Given the description of an element on the screen output the (x, y) to click on. 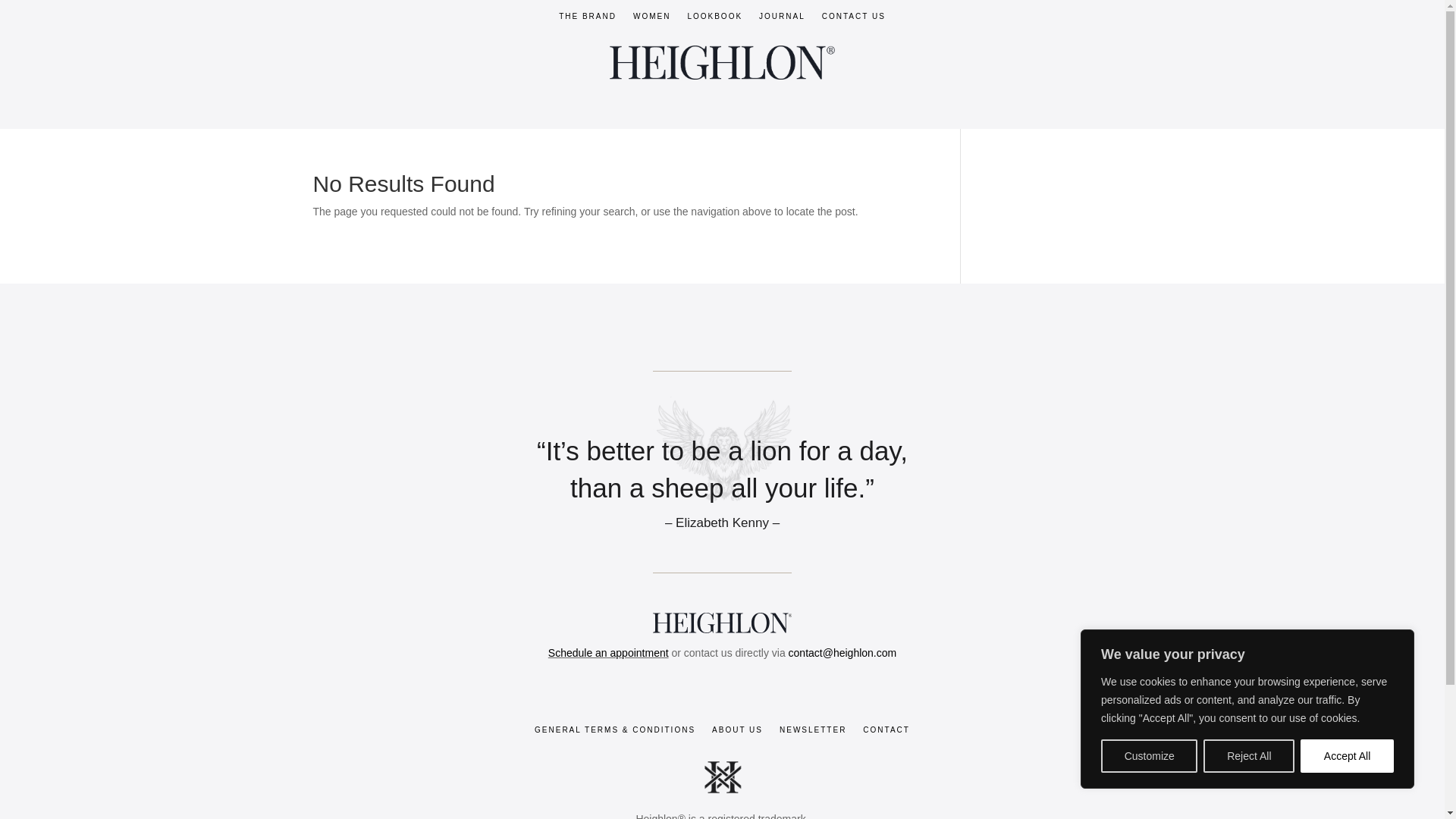
LOOKBOOK (714, 19)
JOURNAL (781, 19)
Heighlon-logo-vector-dark-R (722, 622)
THE BRAND (587, 19)
WOMEN (651, 19)
Customize (1148, 756)
CONTACT US (853, 19)
Schedule an appointment (608, 653)
Accept All (1346, 756)
cropped-Heighlon-socialmedia-whitebg.jpg (721, 776)
Logo-single-dark (722, 62)
House-of-Heighlon-Lion-2024 (722, 449)
Reject All (1249, 756)
